Given the description of an element on the screen output the (x, y) to click on. 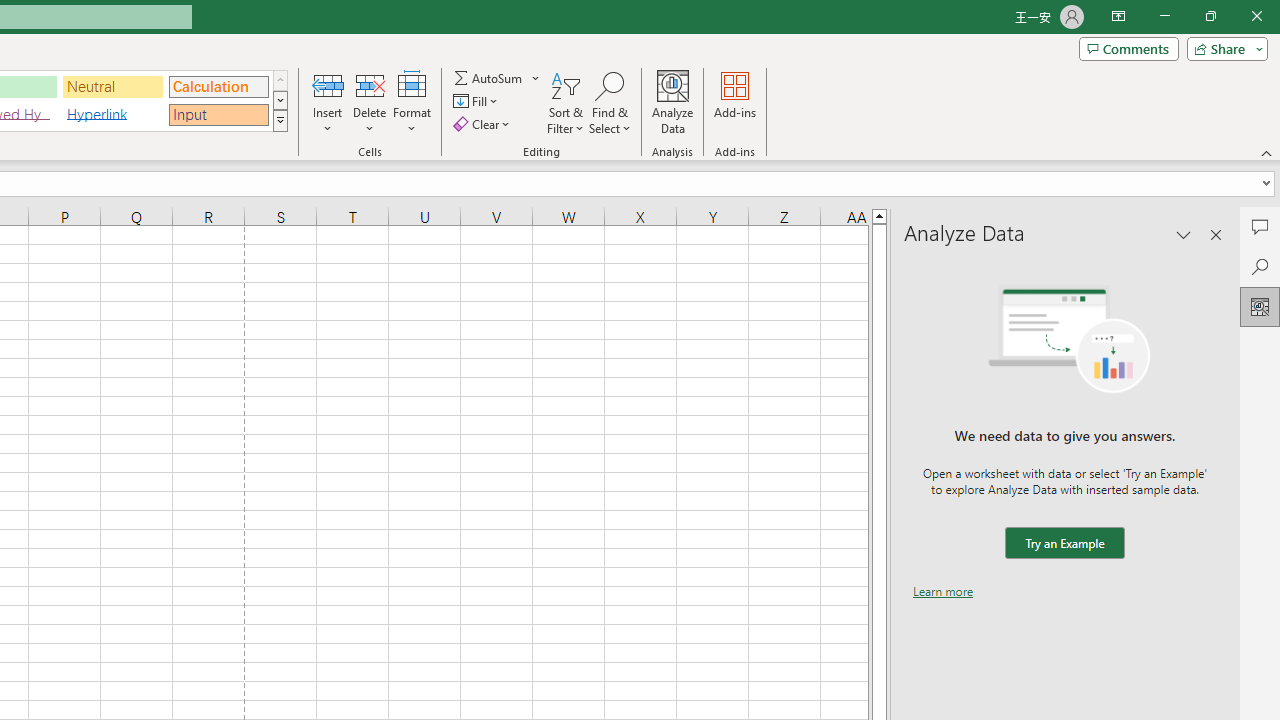
Search (1260, 266)
We need data to give you answers. Try an Example (1064, 543)
Delete Cells... (369, 84)
